Given the description of an element on the screen output the (x, y) to click on. 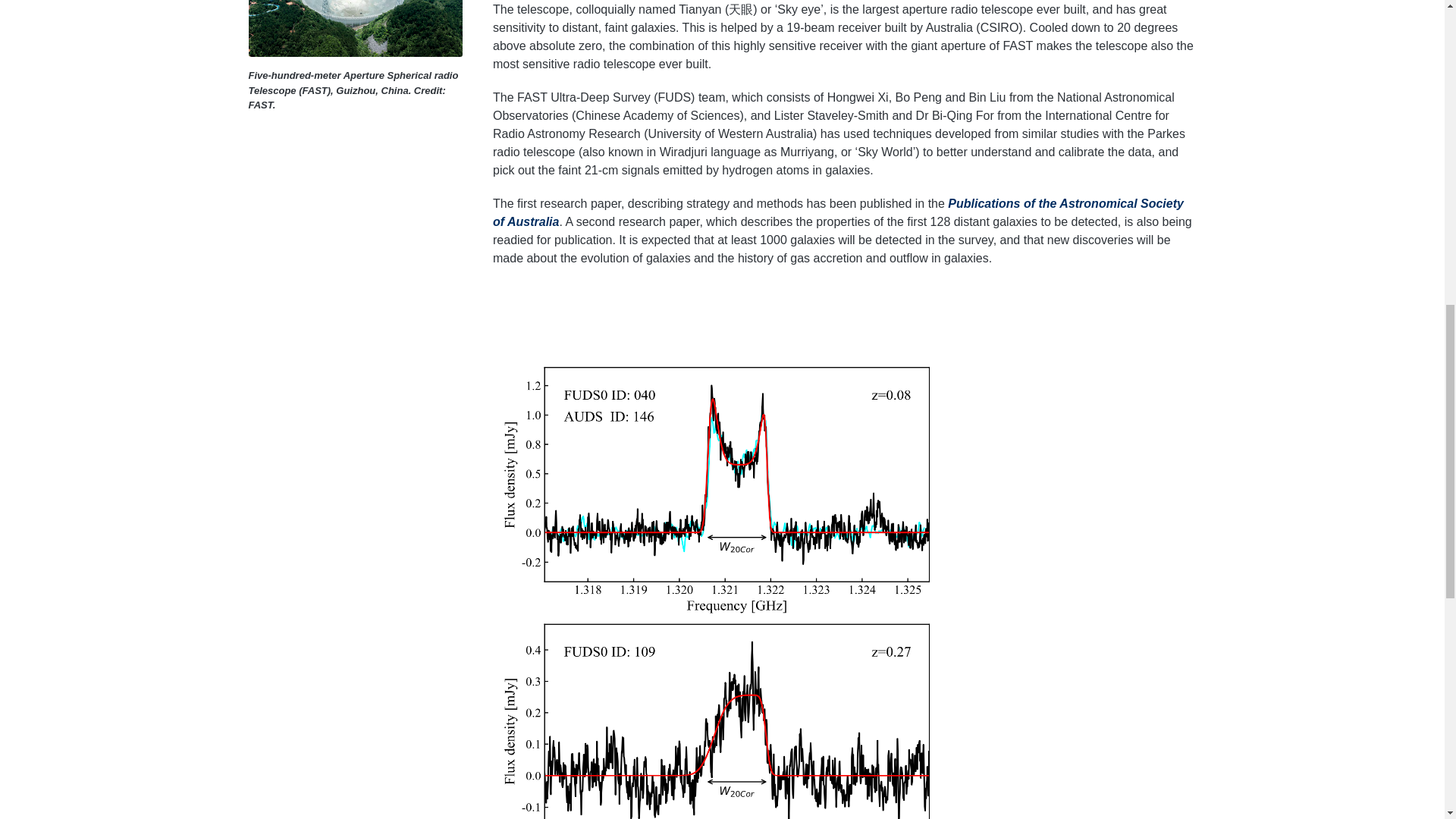
Publications of the Astronomical Society of Australia (838, 212)
